Given the description of an element on the screen output the (x, y) to click on. 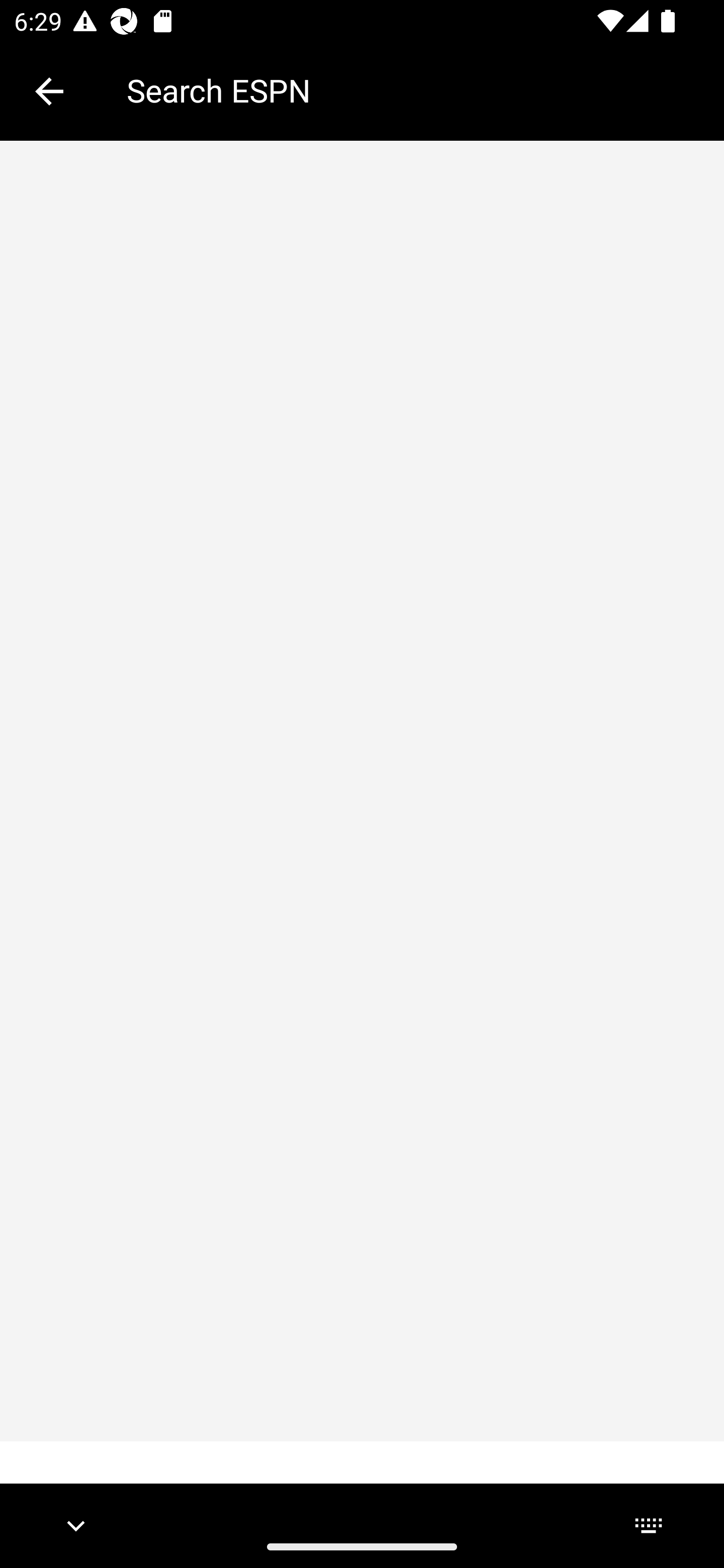
Collapse (49, 91)
Search ESPN (411, 90)
